Given the description of an element on the screen output the (x, y) to click on. 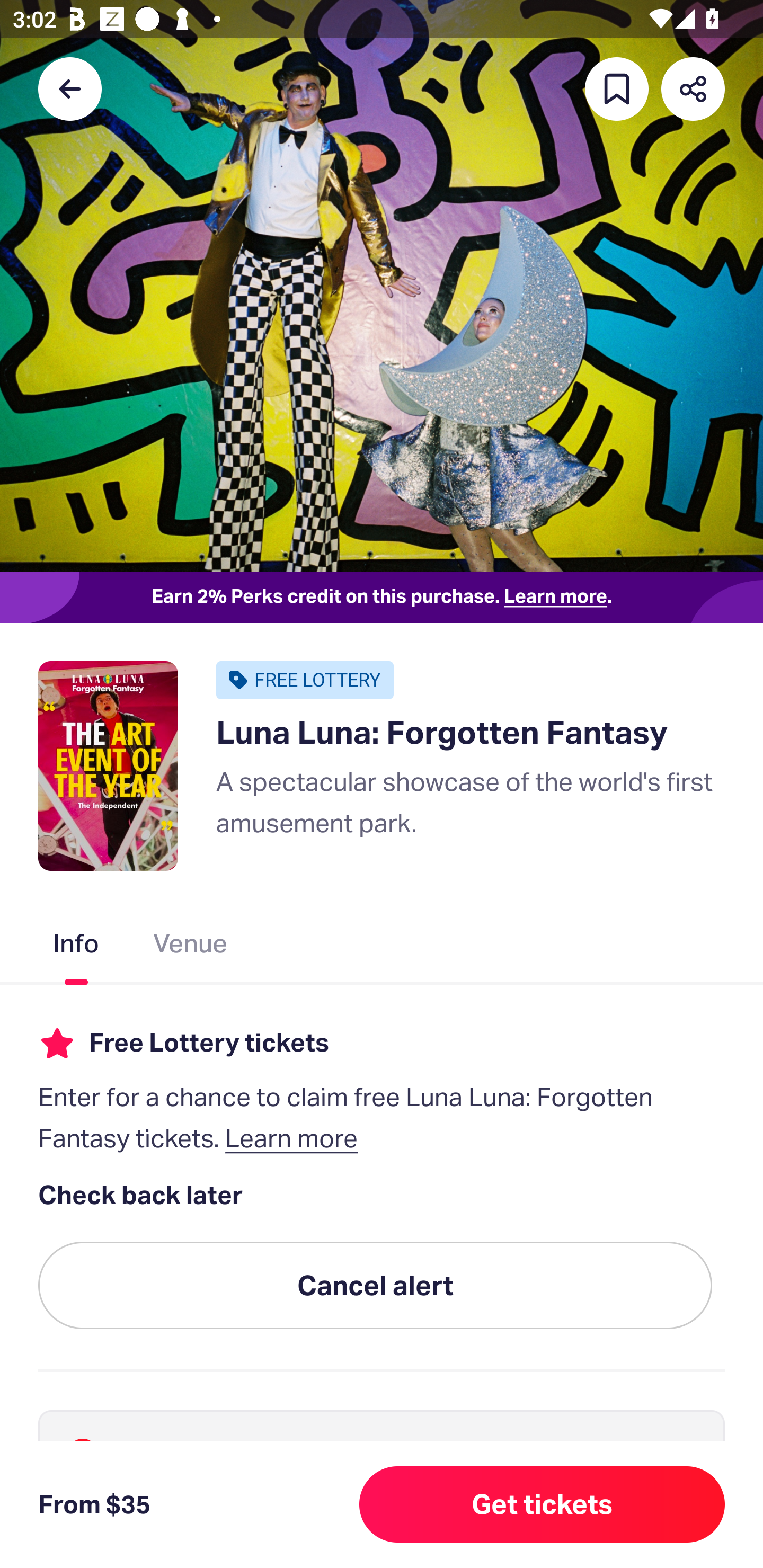
Earn 2% Perks credit on this purchase. Learn more. (381, 597)
Venue (190, 946)
Cancel alert (374, 1286)
Get tickets (541, 1504)
